Given the description of an element on the screen output the (x, y) to click on. 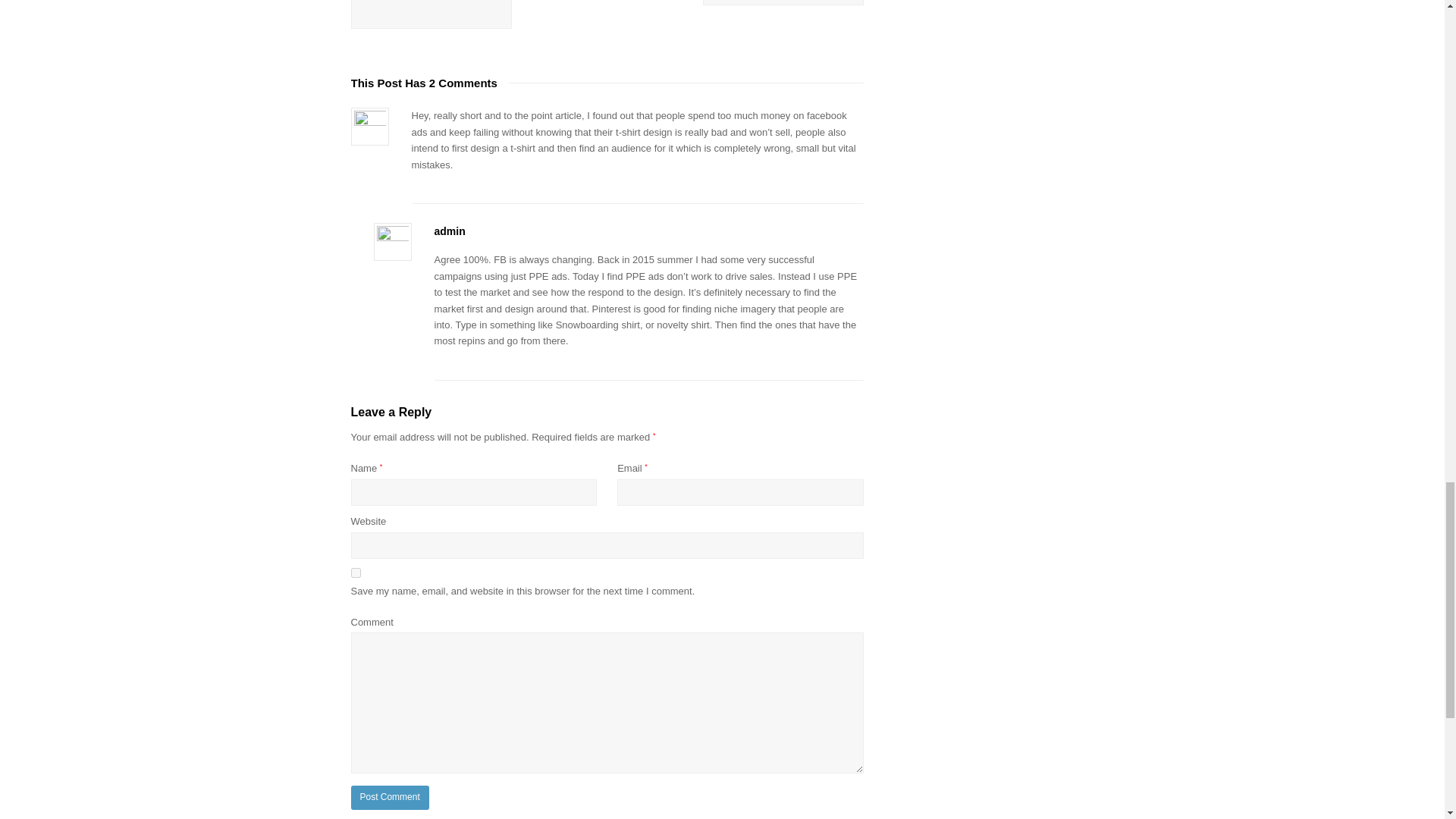
Post Comment (389, 797)
Post Comment (389, 797)
yes (354, 573)
